Given the description of an element on the screen output the (x, y) to click on. 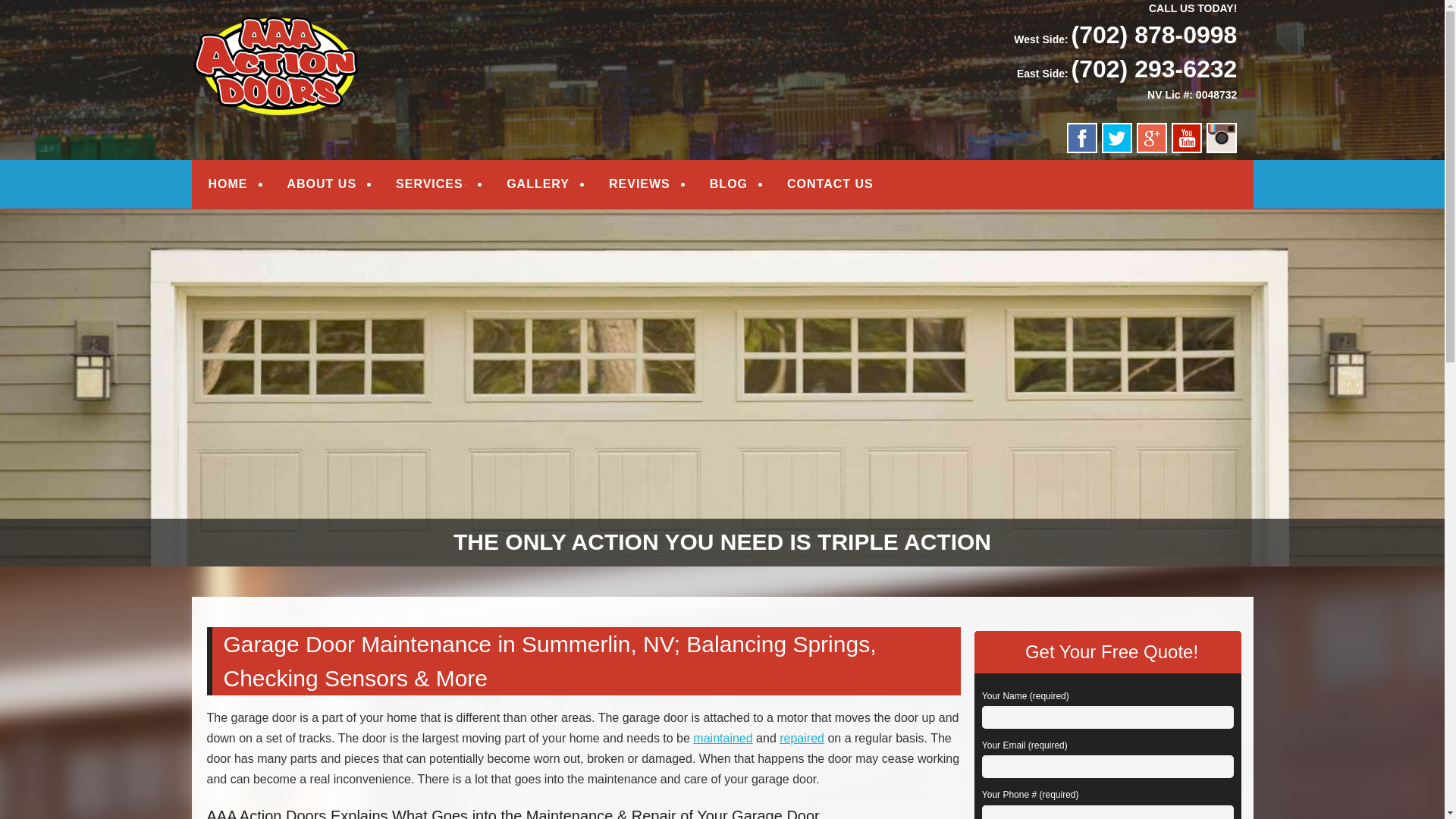
GALLERY (537, 183)
SERVICES (431, 183)
HOME (227, 183)
repaired (801, 738)
ABOUT US (321, 183)
AAA ACTION DOORS (339, 32)
AAA Action Doors (339, 32)
CONTACT US (829, 183)
REVIEWS (639, 183)
maintained (722, 738)
